Given the description of an element on the screen output the (x, y) to click on. 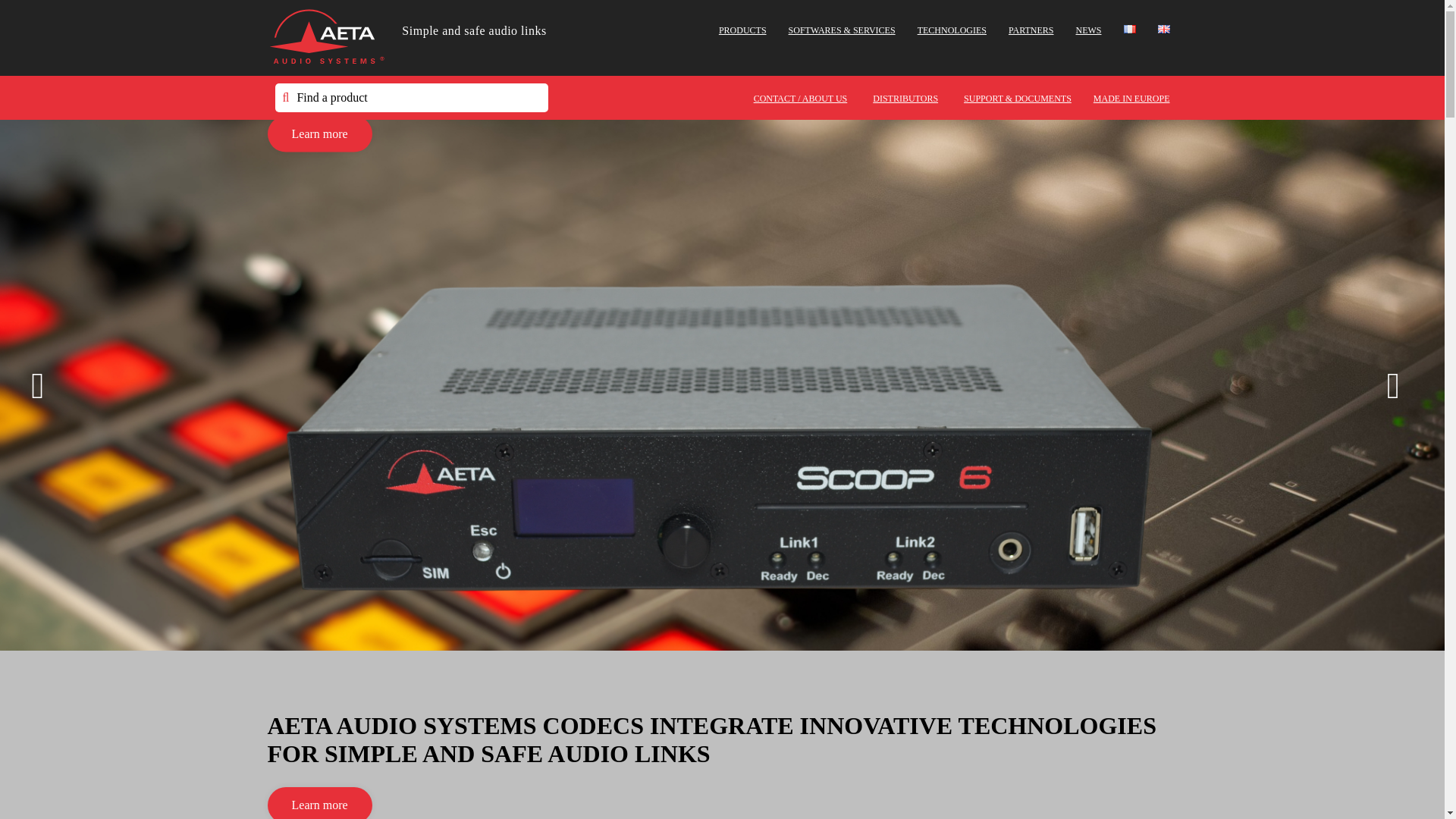
DISTRIBUTORS (904, 98)
NEWS (1087, 30)
PARTNERS (1031, 30)
MADE IN EUROPE (1131, 98)
PRODUCTS (742, 30)
TECHNOLOGIES (952, 30)
